Given the description of an element on the screen output the (x, y) to click on. 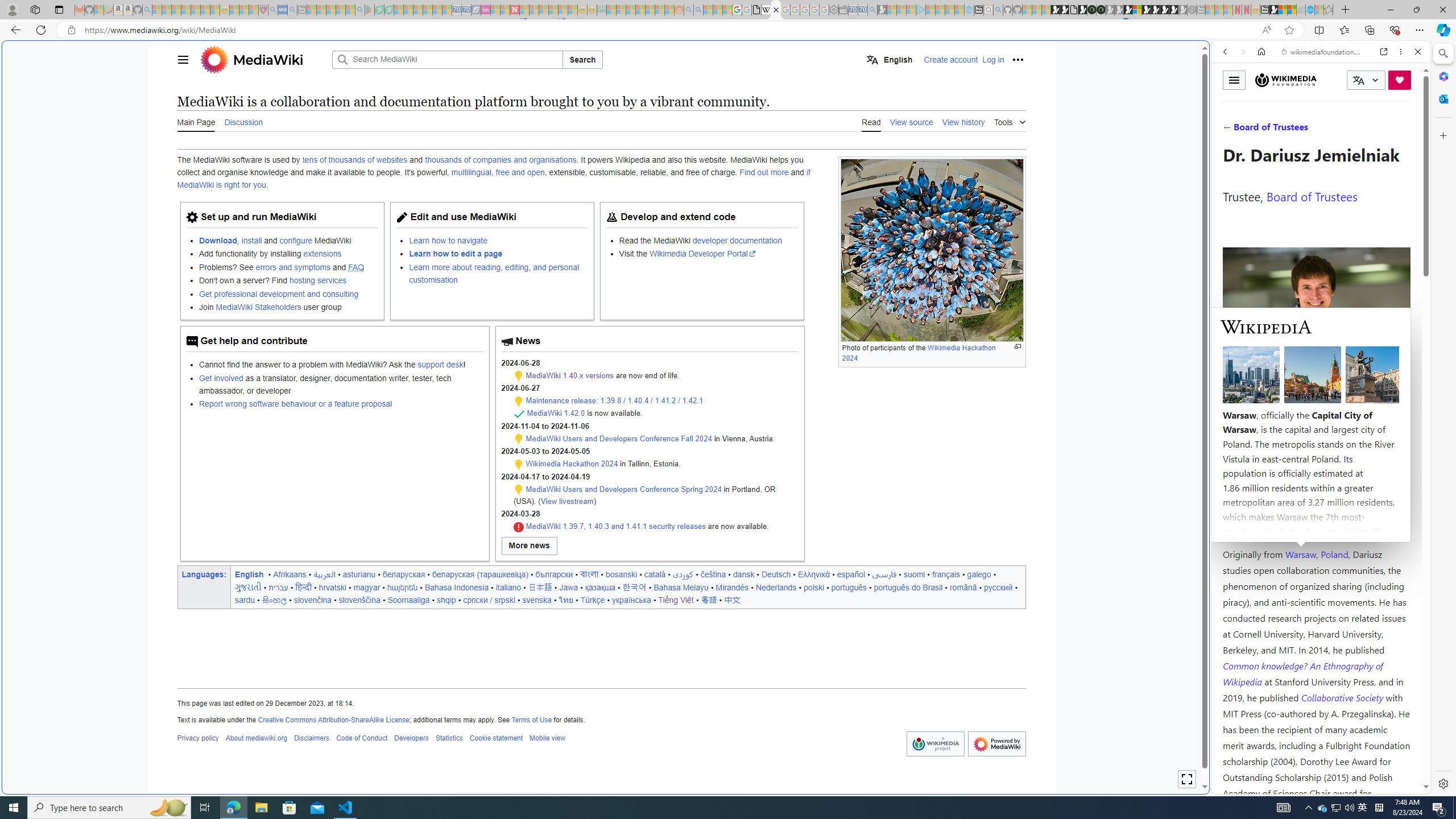
Bahasa Melayu (681, 587)
galego (978, 574)
Preferences (1403, 129)
Maintenance update (518, 489)
AutomationID: footer-poweredbyico (996, 744)
More news (528, 545)
